Given the description of an element on the screen output the (x, y) to click on. 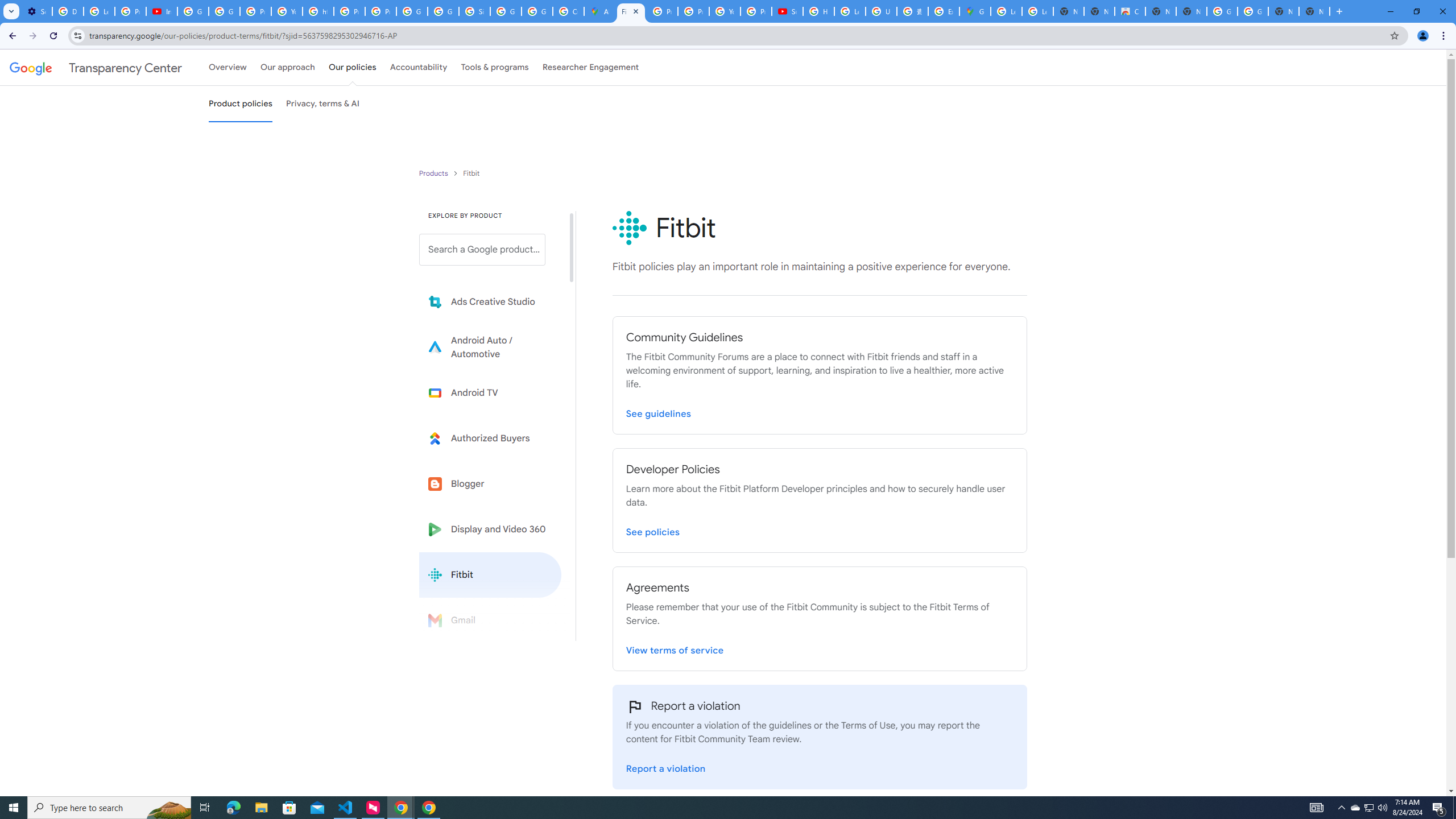
How Chrome protects your passwords - Google Chrome Help (818, 11)
Create your Google Account (568, 11)
Privacy, terms & AI (322, 103)
Google Images (1222, 11)
Learn how to find your photos - Google Photos Help (98, 11)
Introduction | Google Privacy Policy - YouTube (161, 11)
Google Images (1252, 11)
Fitbit (490, 574)
Explore new street-level details - Google Maps Help (943, 11)
Report a violation (665, 766)
